Given the description of an element on the screen output the (x, y) to click on. 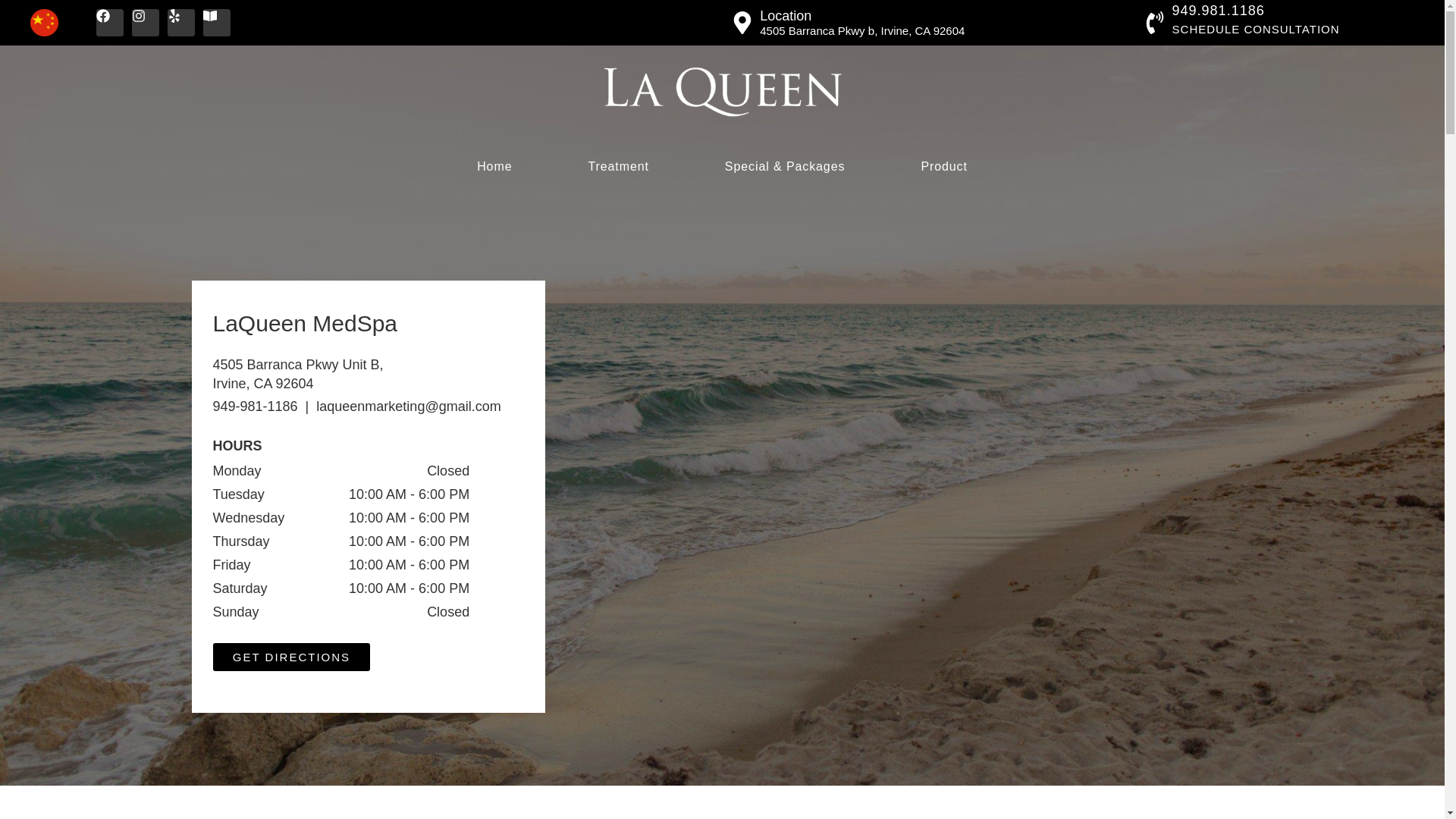
Product (943, 166)
Home (494, 166)
Treatment (617, 166)
949.981.1186 (1218, 10)
